Given the description of an element on the screen output the (x, y) to click on. 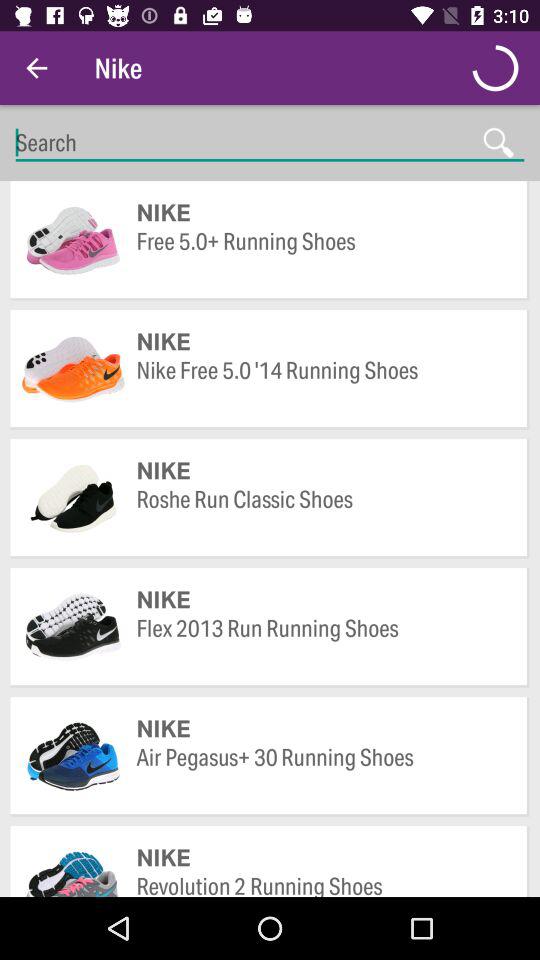
select roshe run classic icon (322, 514)
